Given the description of an element on the screen output the (x, y) to click on. 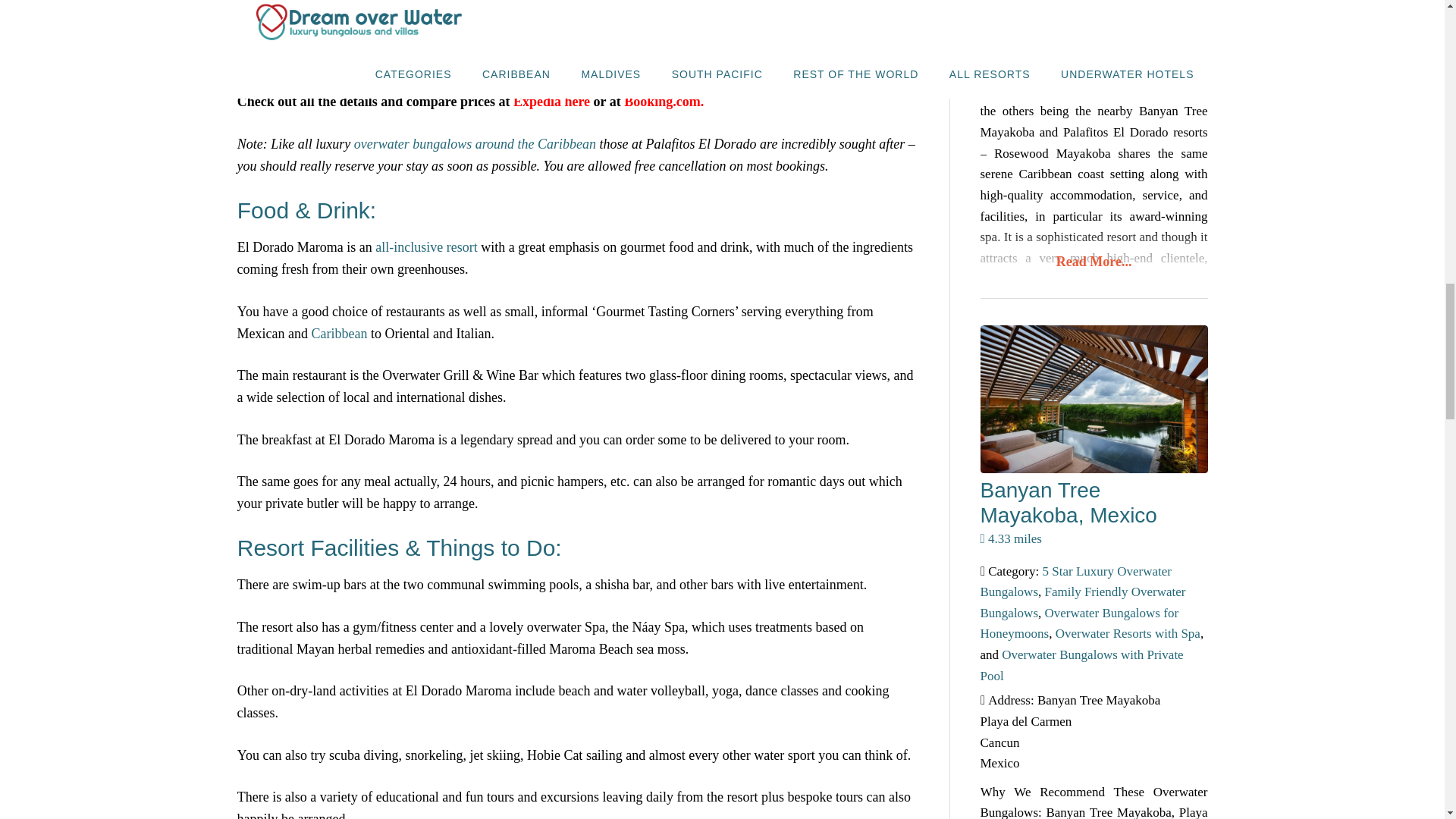
View: Banyan Tree Mayakoba, Mexico (1067, 502)
